Given the description of an element on the screen output the (x, y) to click on. 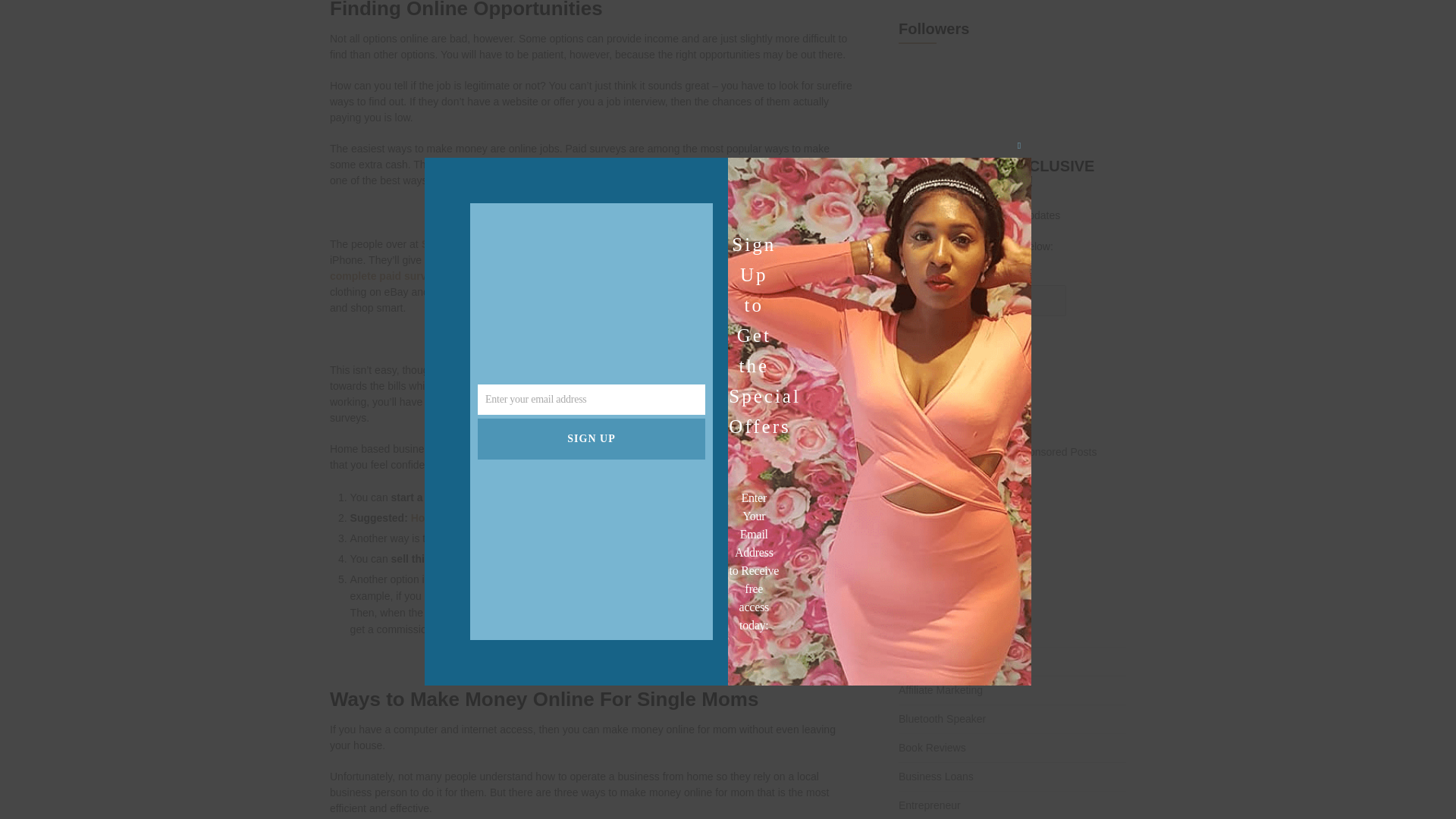
Submit (922, 344)
